Given the description of an element on the screen output the (x, y) to click on. 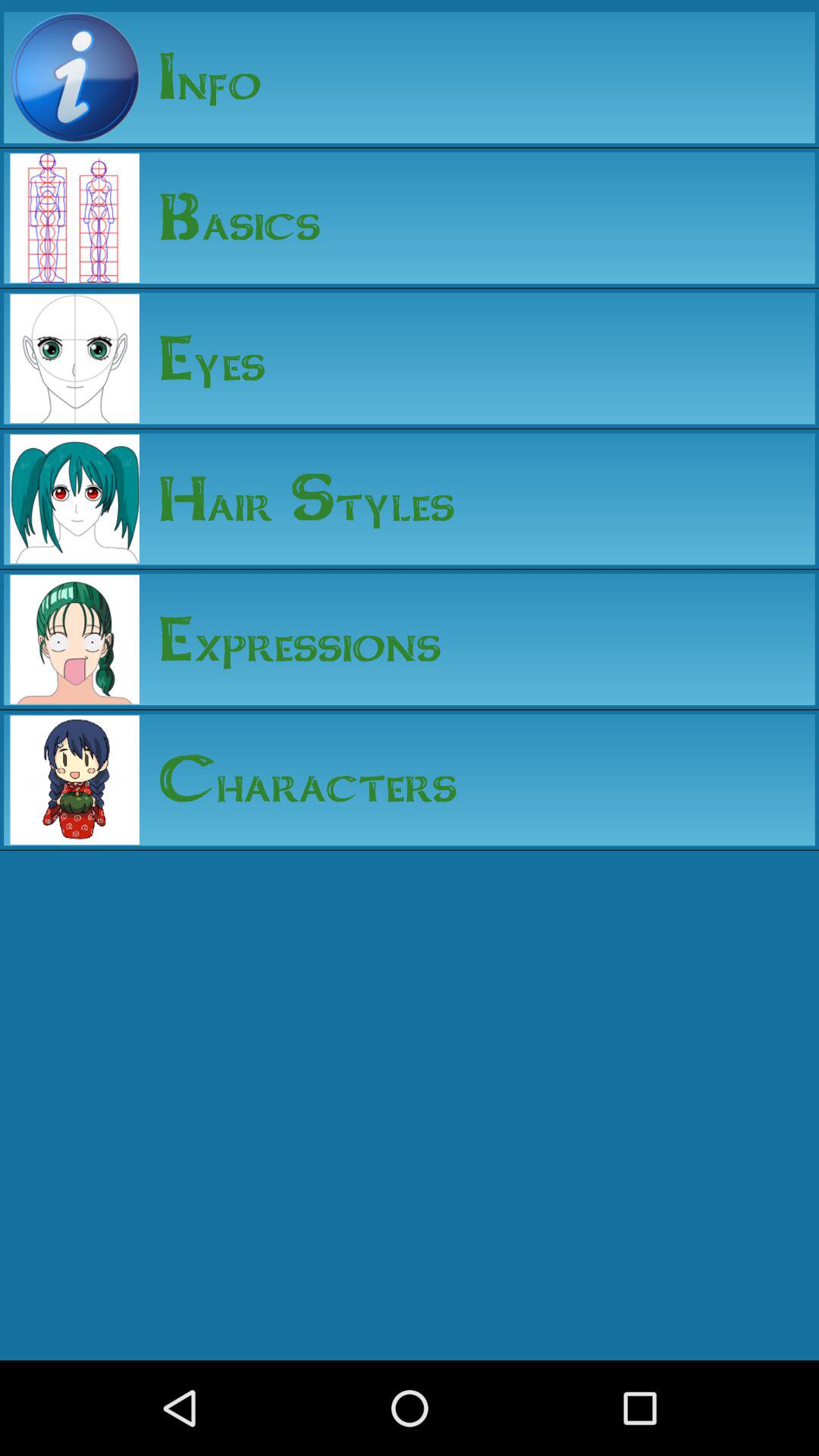
tap the hair styles app (297, 498)
